Given the description of an element on the screen output the (x, y) to click on. 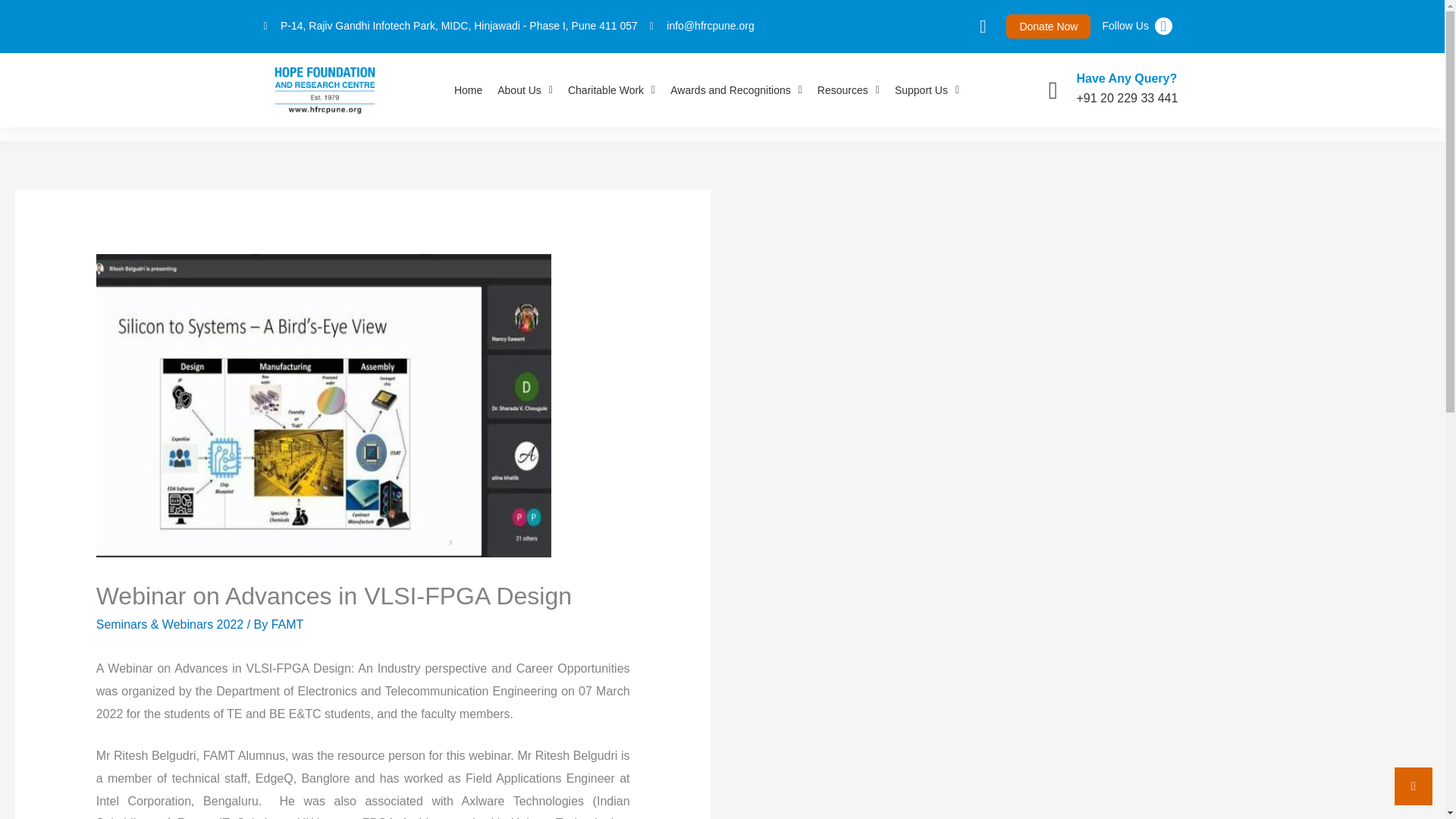
Resources (847, 89)
View all posts by FAMT (287, 624)
Home (467, 89)
Follow Us (1125, 26)
Charitable Work (611, 89)
Awards and Recognitions (735, 89)
About Us (524, 89)
Donate Now (1048, 26)
